Given the description of an element on the screen output the (x, y) to click on. 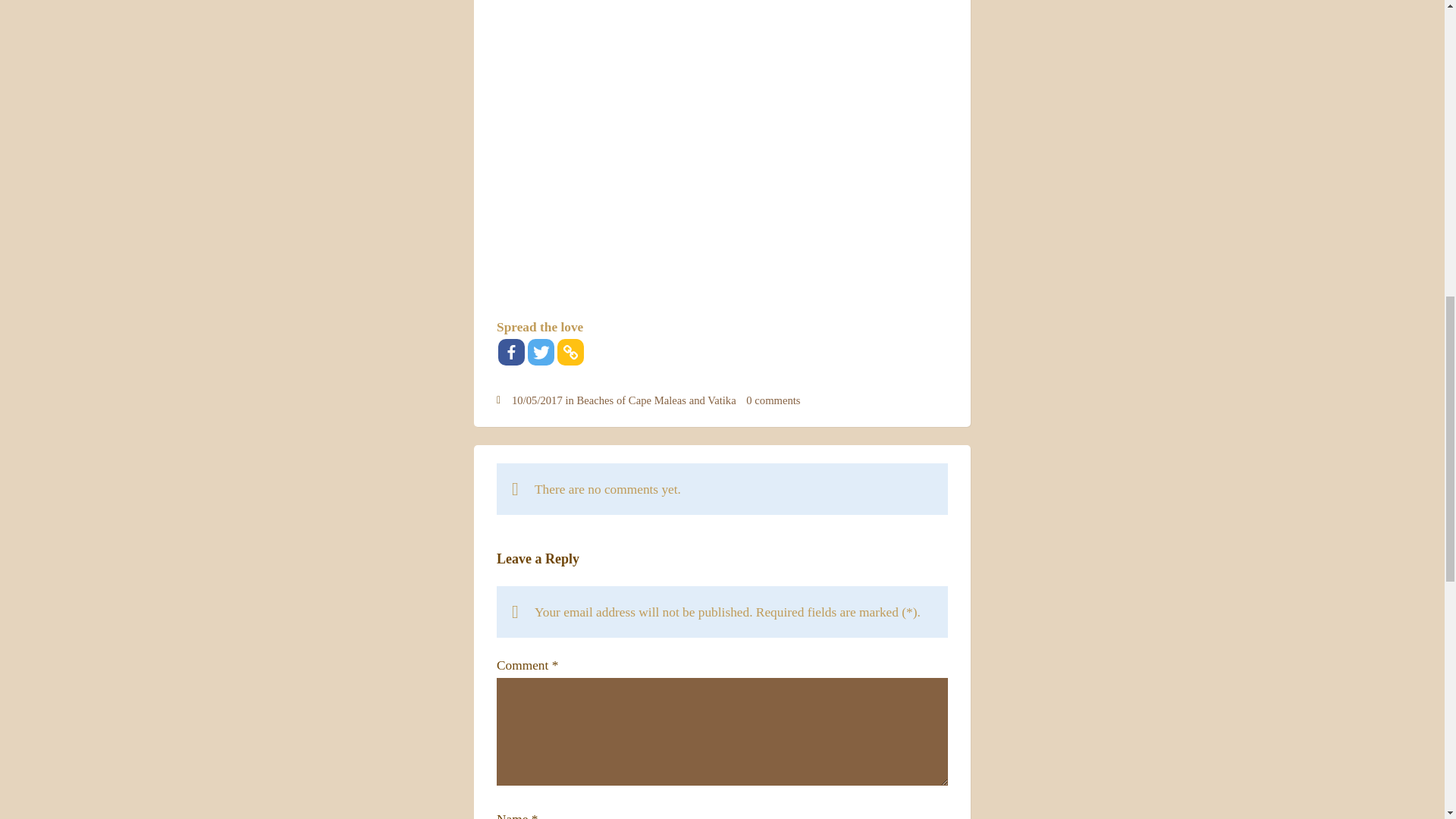
Copy Link (570, 352)
Twitter (540, 352)
Facebook (510, 352)
